Given the description of an element on the screen output the (x, y) to click on. 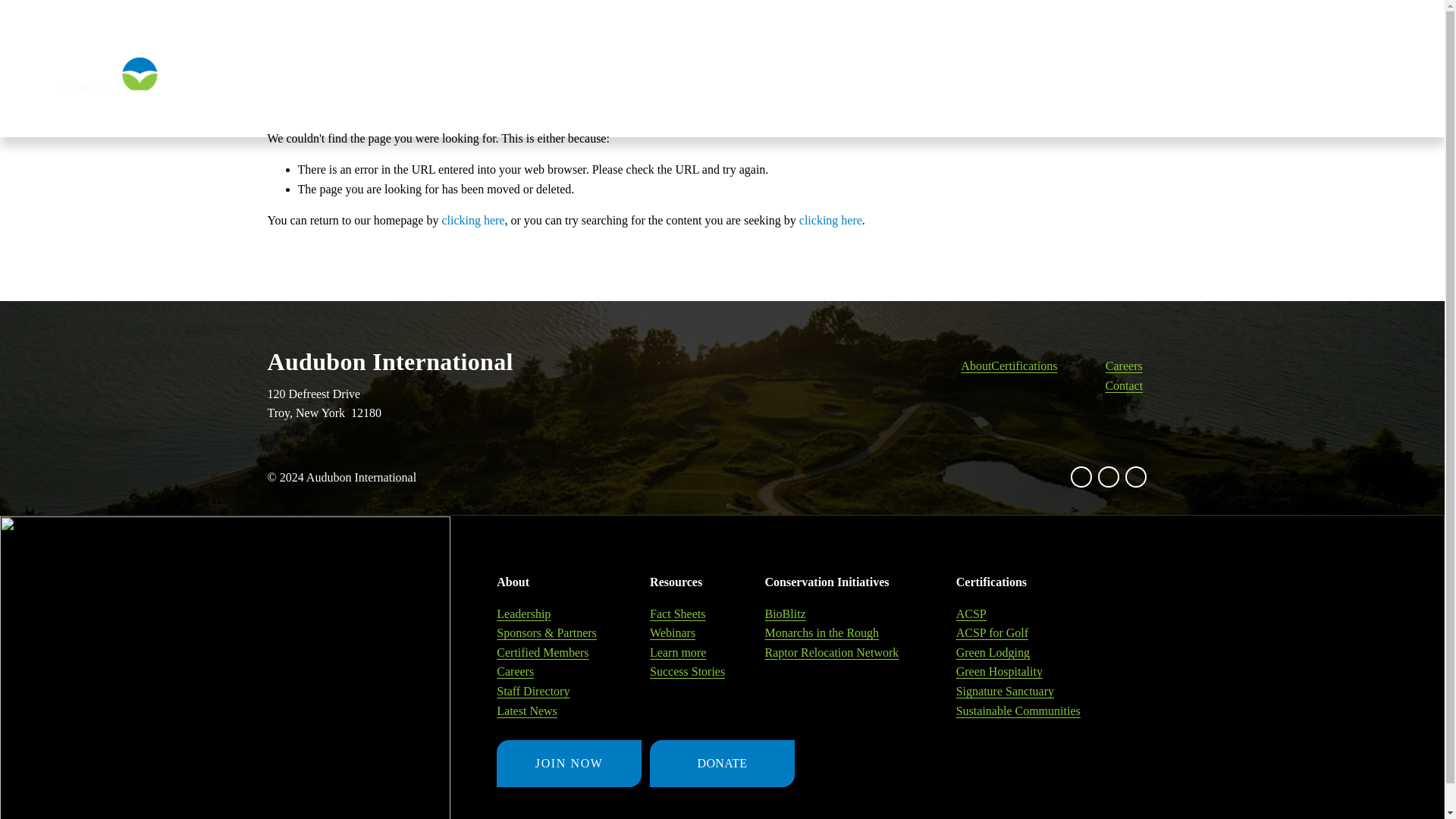
MEMBERS (1335, 82)
Certified Members (1195, 82)
About (1101, 82)
